Given the description of an element on the screen output the (x, y) to click on. 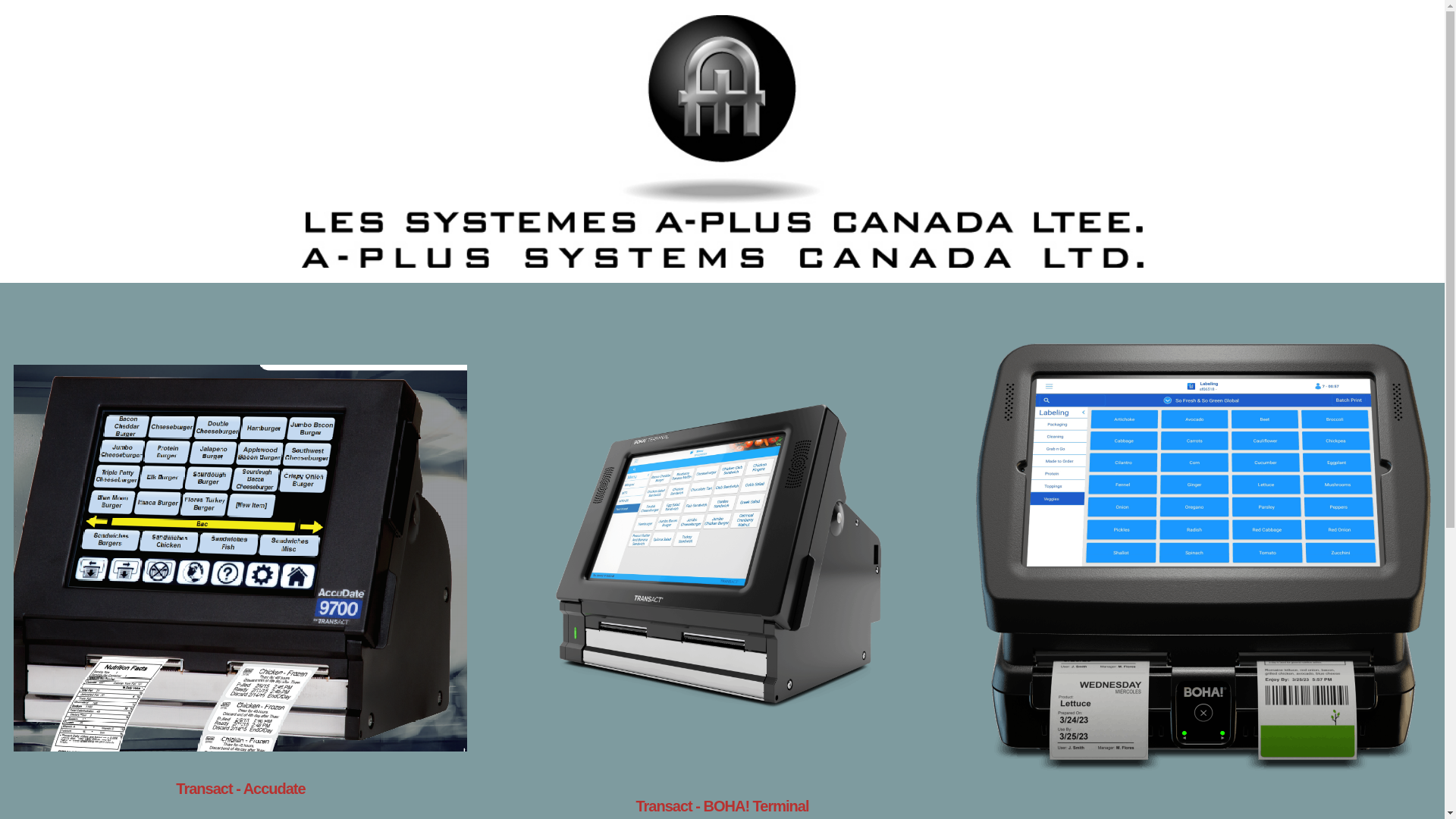
A-PLUS SYSTEMS CANADA LTD Element type: hover (722, 141)
